Given the description of an element on the screen output the (x, y) to click on. 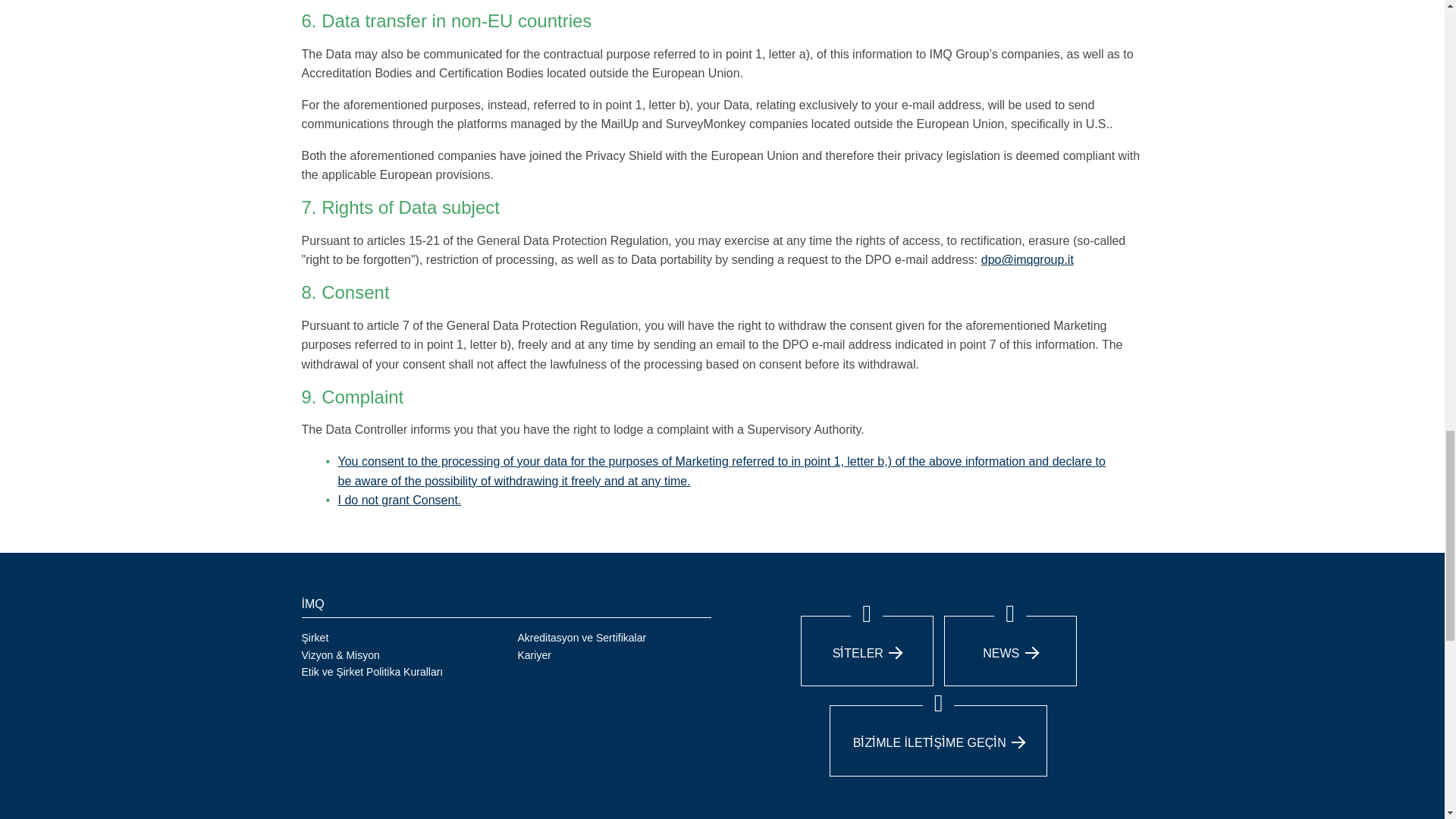
Akreditasyon ve Sertifikalar (581, 637)
NEWS (1010, 653)
NEWS (1009, 651)
Kariyer (533, 654)
I do not grant Consent. (399, 499)
